Given the description of an element on the screen output the (x, y) to click on. 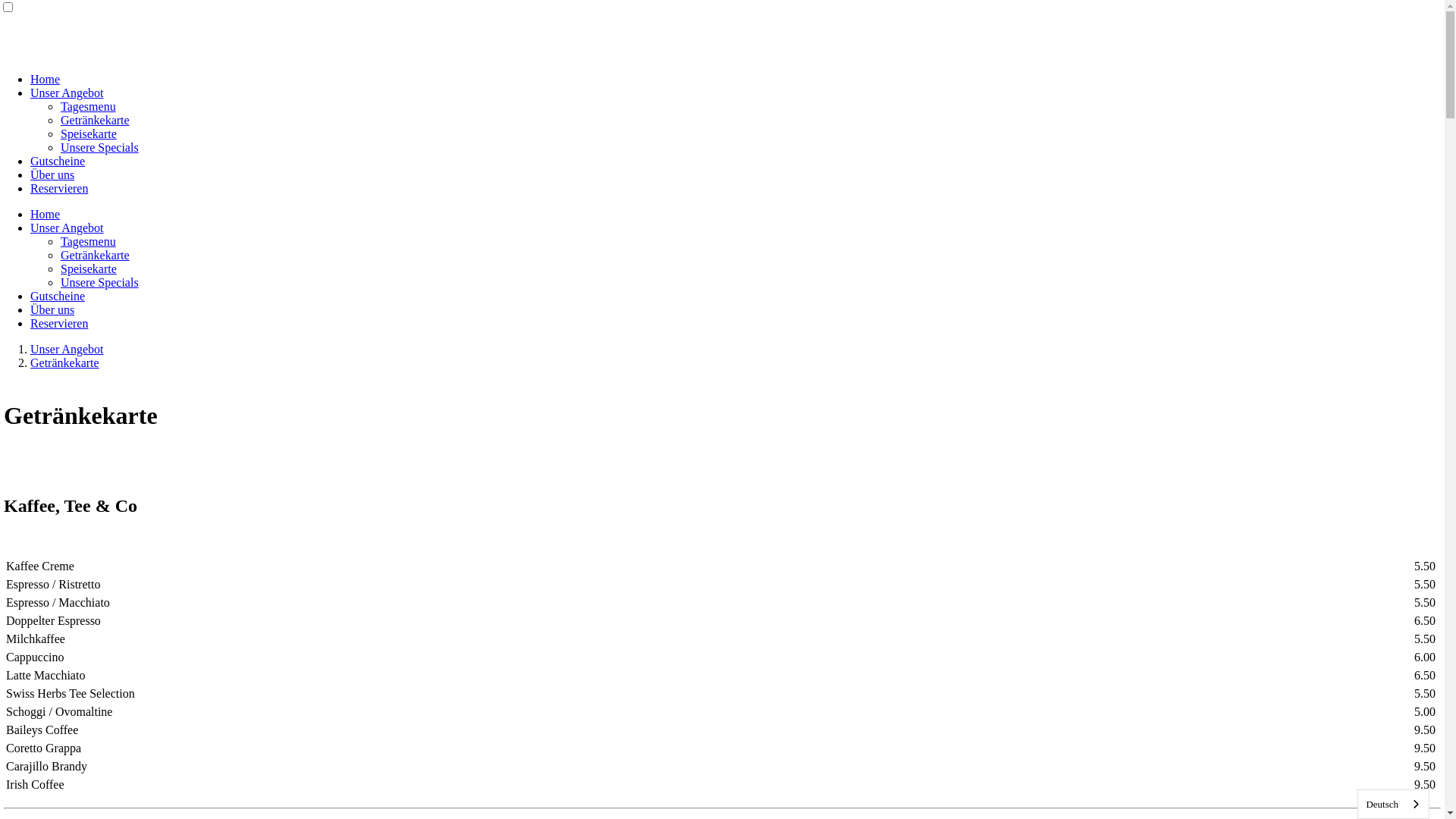
Home Element type: text (44, 78)
Unser Angebot Element type: text (66, 92)
Reservieren Element type: text (58, 188)
Unser Angebot Element type: text (66, 227)
Gutscheine Element type: text (57, 160)
Tagesmenu Element type: text (88, 241)
Speisekarte Element type: text (88, 268)
Deutsch Element type: text (1393, 804)
Unsere Specials Element type: text (99, 147)
Gutscheine Element type: text (57, 295)
Home Element type: text (44, 213)
Unsere Specials Element type: text (99, 282)
Unser Angebot Element type: text (66, 348)
Reservieren Element type: text (58, 322)
Tagesmenu Element type: text (88, 106)
Speisekarte Element type: text (88, 133)
